Given the description of an element on the screen output the (x, y) to click on. 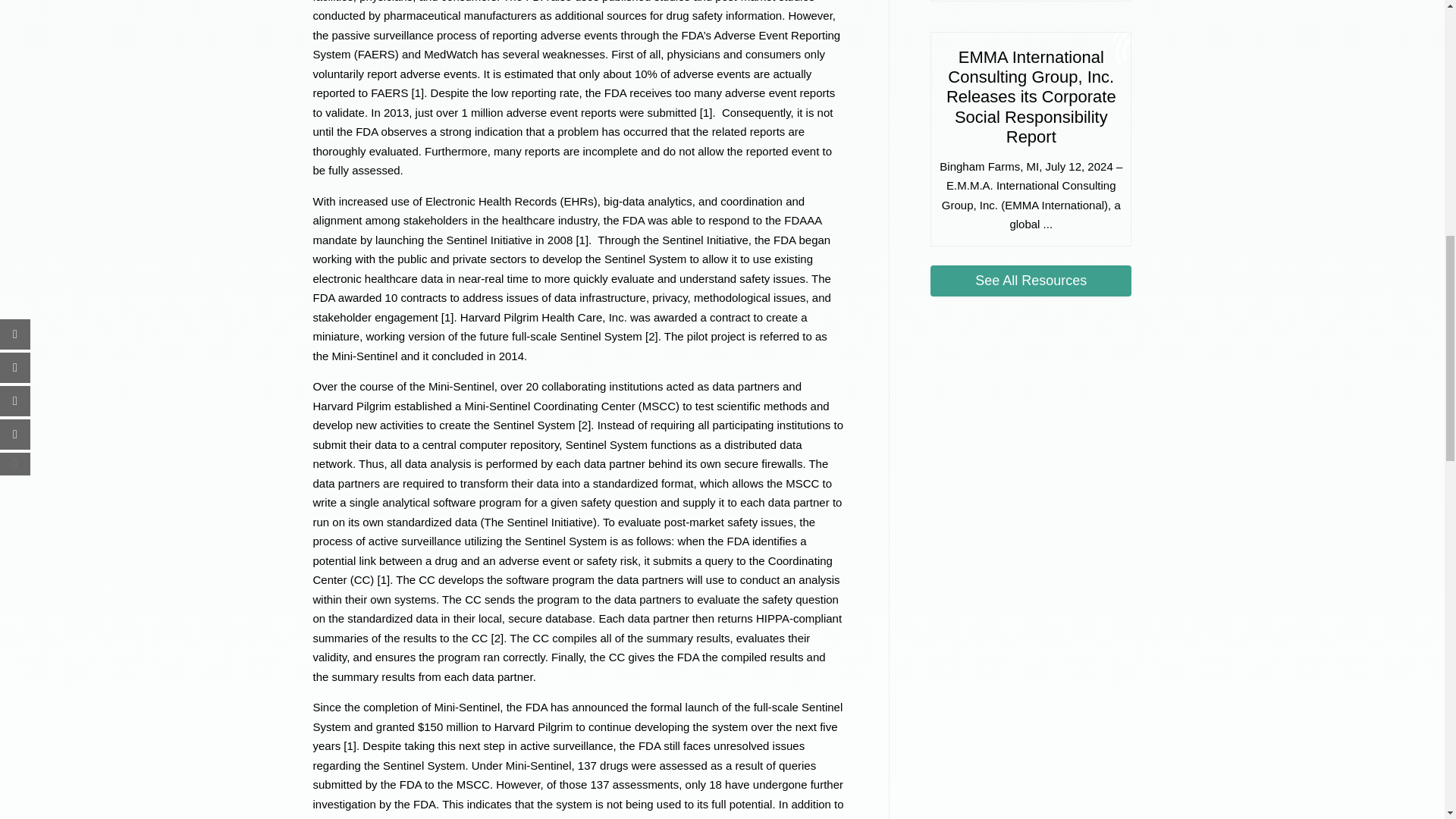
See All Resources (1030, 280)
